Given the description of an element on the screen output the (x, y) to click on. 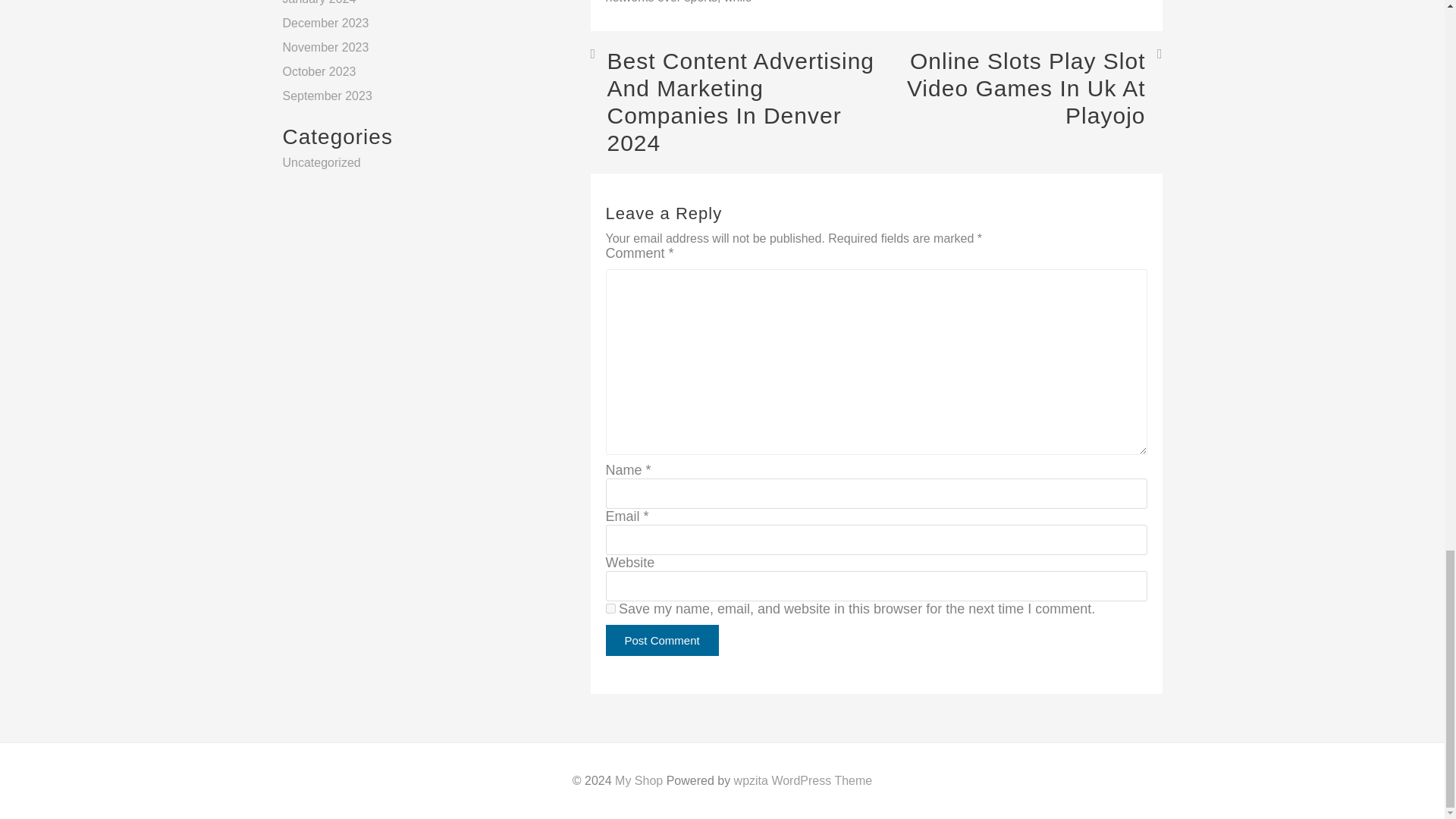
yes (609, 608)
Post Comment (661, 640)
Post Comment (661, 640)
Online Slots Play Slot Video Games In Uk At Playojo (1018, 88)
